Given the description of an element on the screen output the (x, y) to click on. 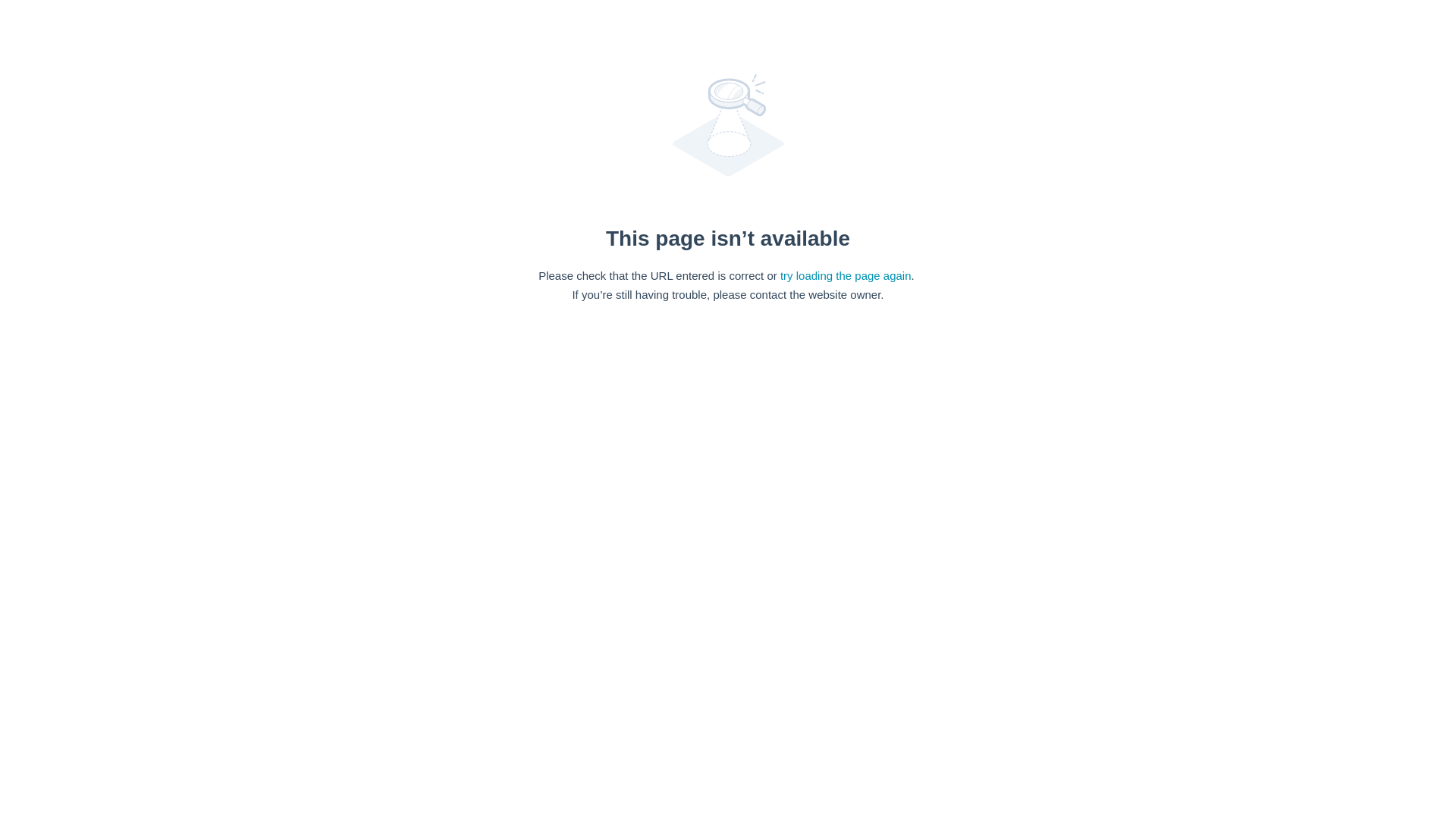
try loading the page again Element type: text (845, 274)
